Given the description of an element on the screen output the (x, y) to click on. 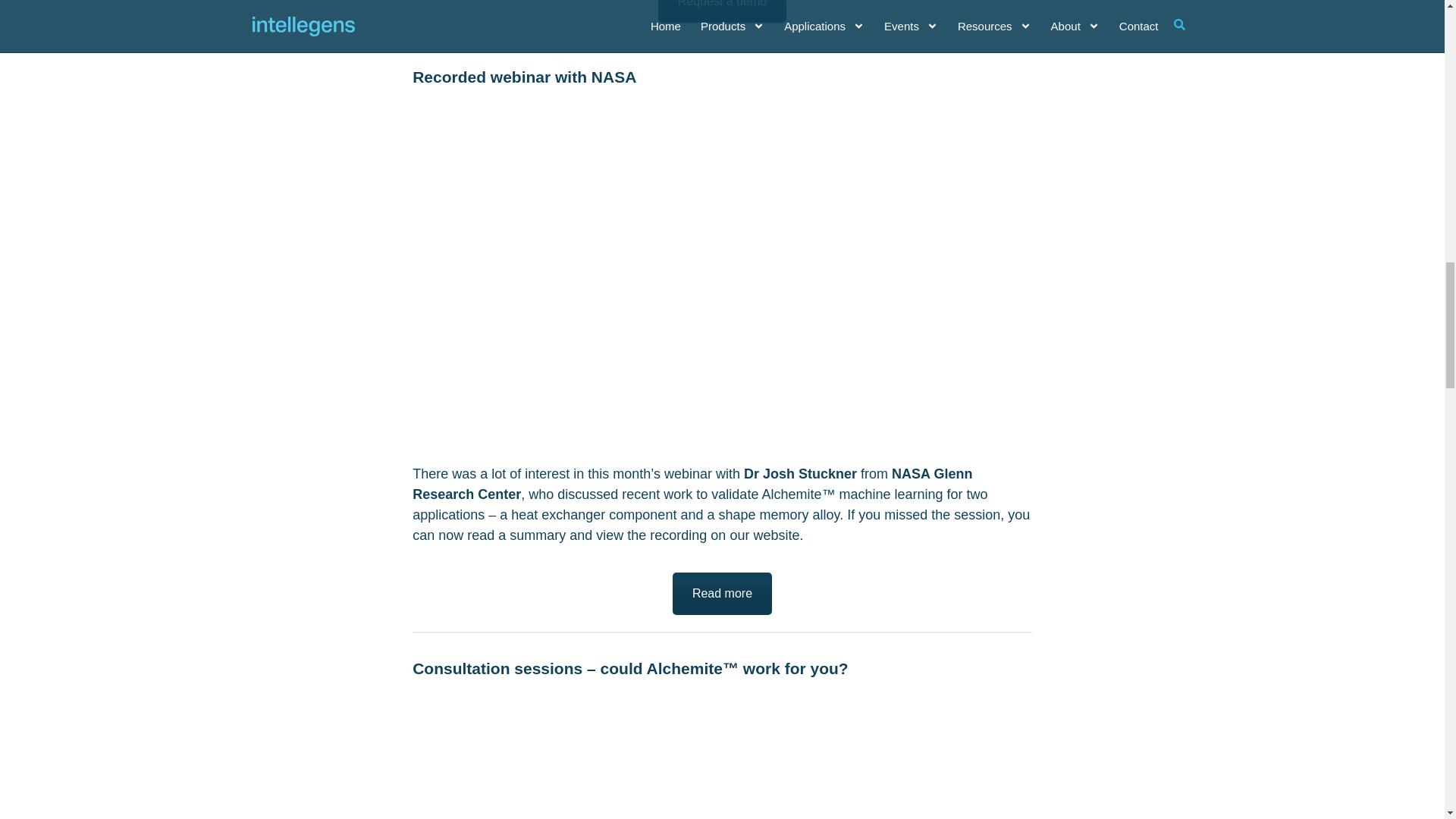
25feb8c5-74e1-71d3-377a-744a954672a9 (722, 715)
NASA webinar recording (722, 123)
AMtech forum (722, 11)
Read more (721, 593)
